Given the description of an element on the screen output the (x, y) to click on. 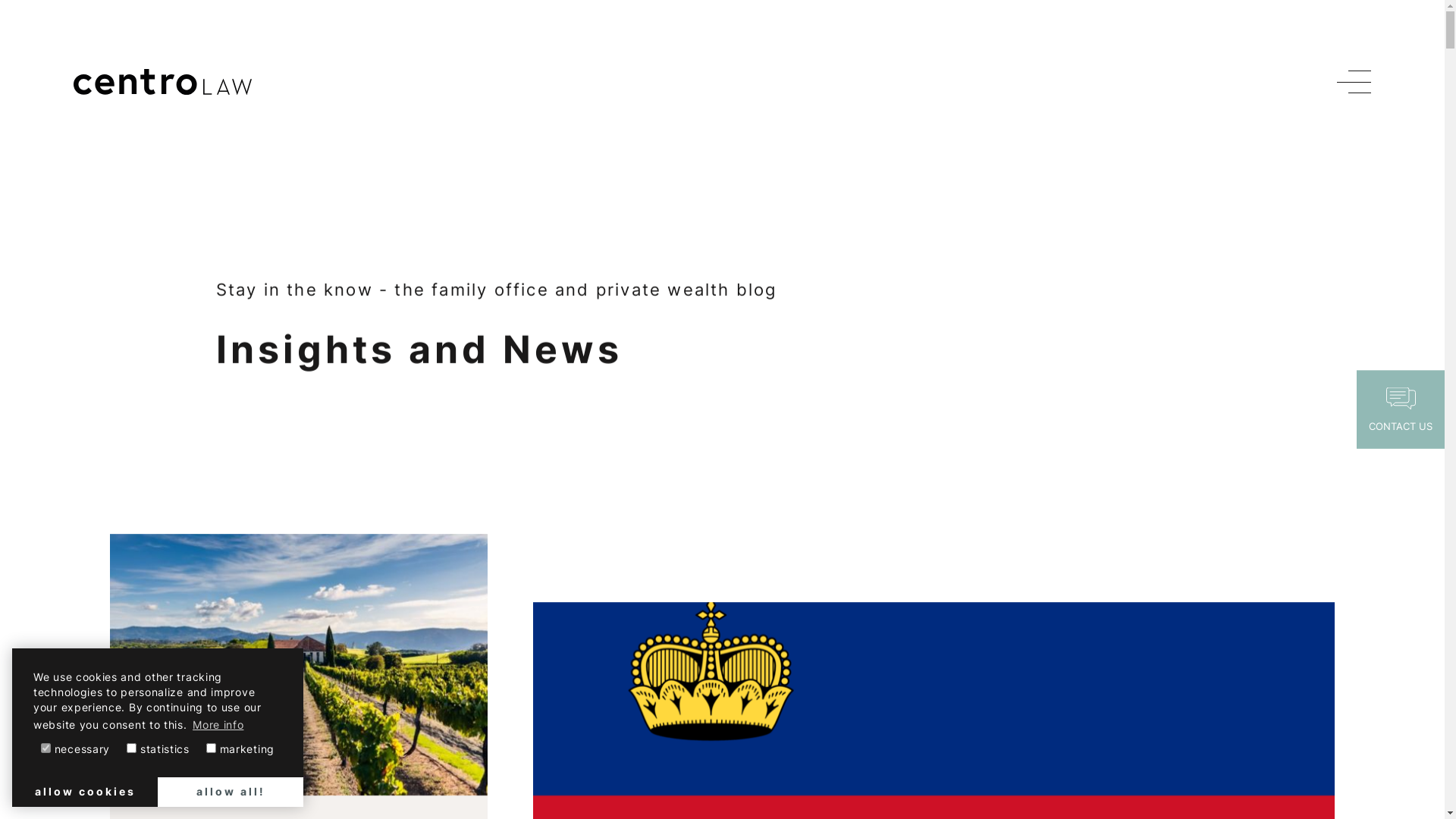
CONTACT US Element type: text (1400, 409)
More info Element type: text (217, 724)
allow cookies Element type: text (84, 791)
allow all! Element type: text (230, 791)
